Given the description of an element on the screen output the (x, y) to click on. 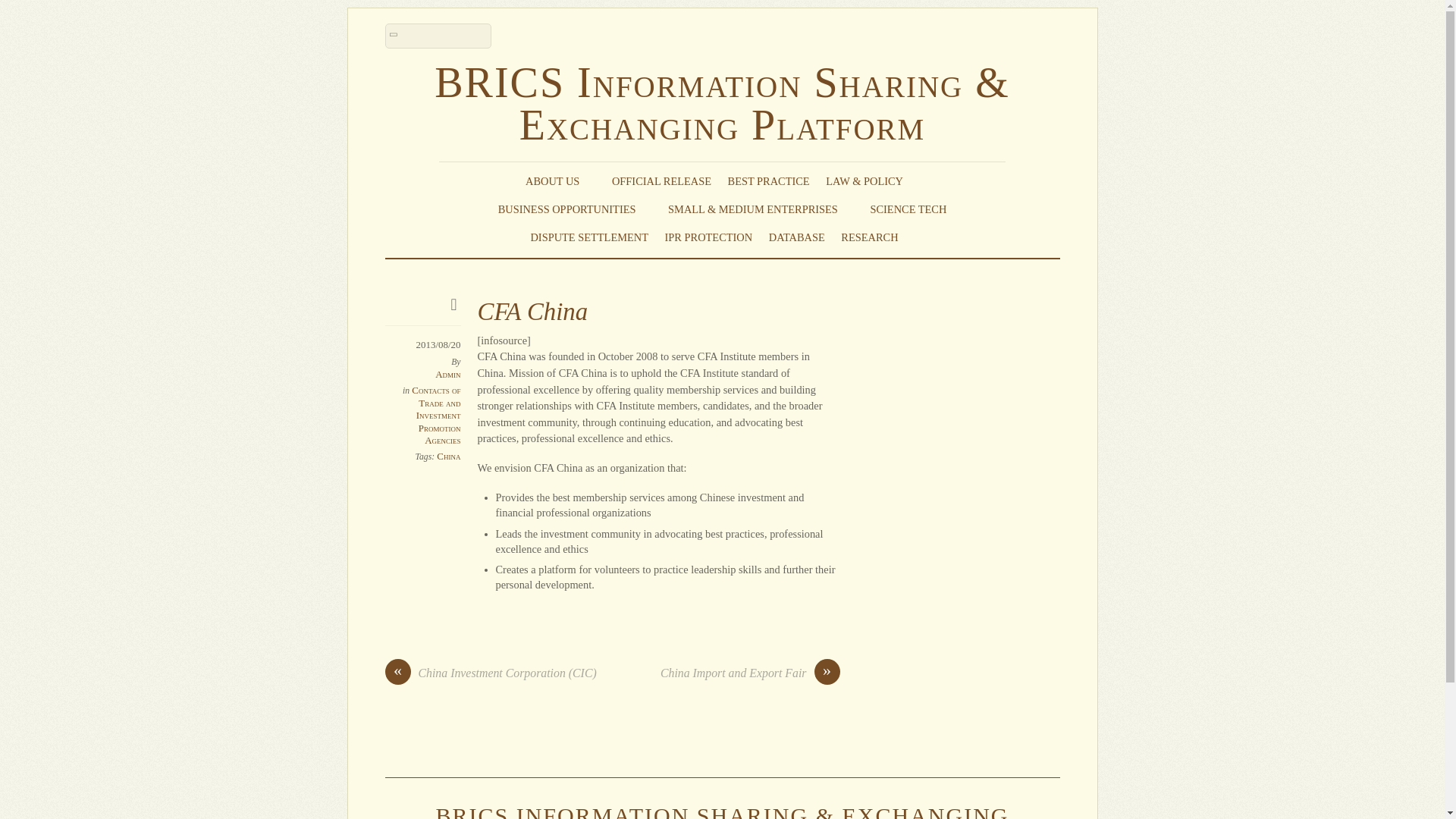
BEST PRACTICE (768, 180)
ABOUT US (559, 180)
Contacts of Trade and Investment Promotion Agencies (436, 414)
Search (438, 35)
RESEARCH (877, 237)
IPR PROTECTION (709, 237)
China (448, 455)
OFFICIAL RELEASE (661, 180)
BUSINESS OPPORTUNITIES (575, 209)
Admin (447, 374)
CFA China (532, 311)
SCIENCE TECH (908, 209)
DATABASE (796, 237)
DISPUTE SETTLEMENT (588, 237)
